Given the description of an element on the screen output the (x, y) to click on. 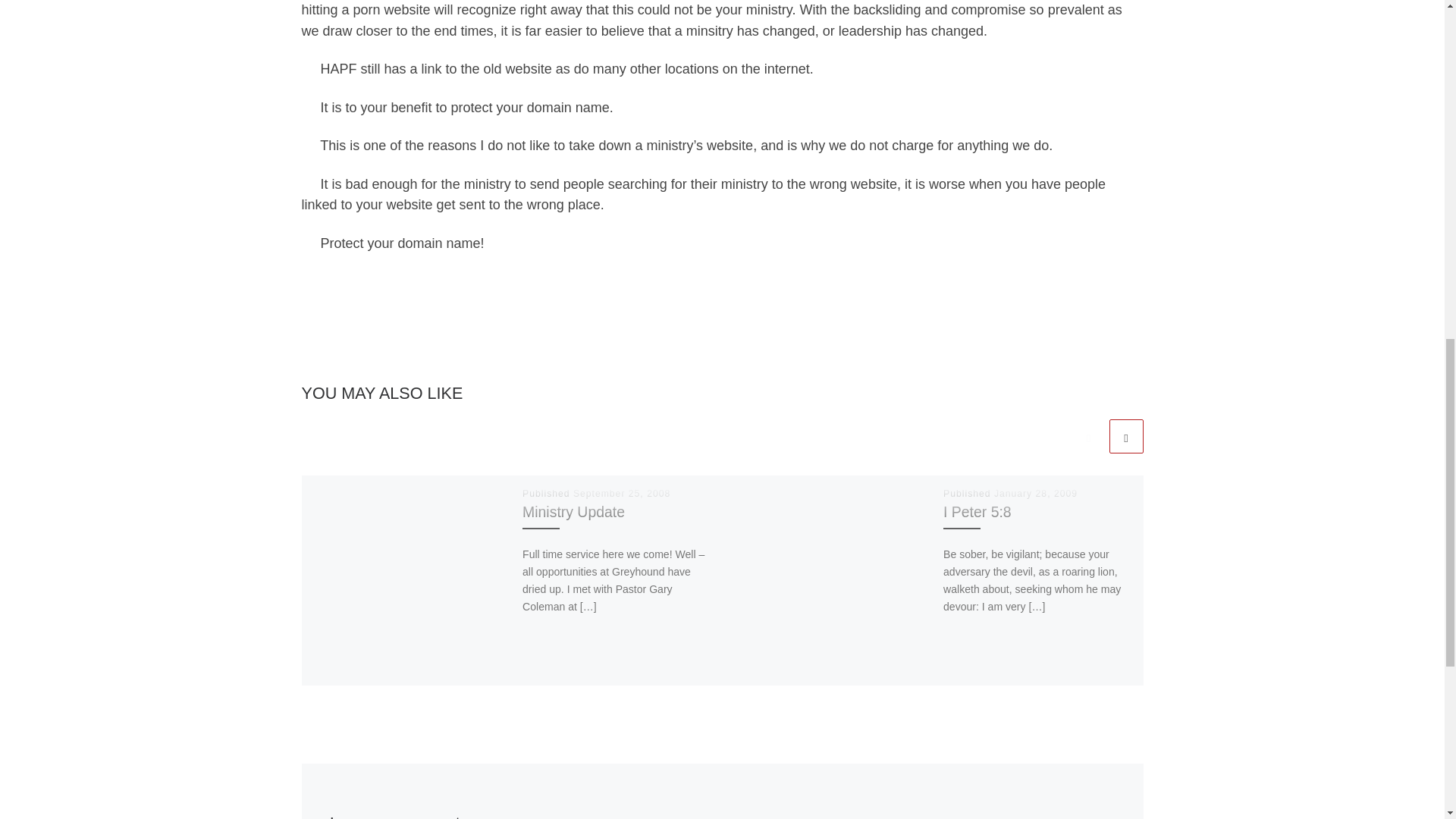
Next related articles (1125, 436)
Previous related articles (1088, 436)
